Given the description of an element on the screen output the (x, y) to click on. 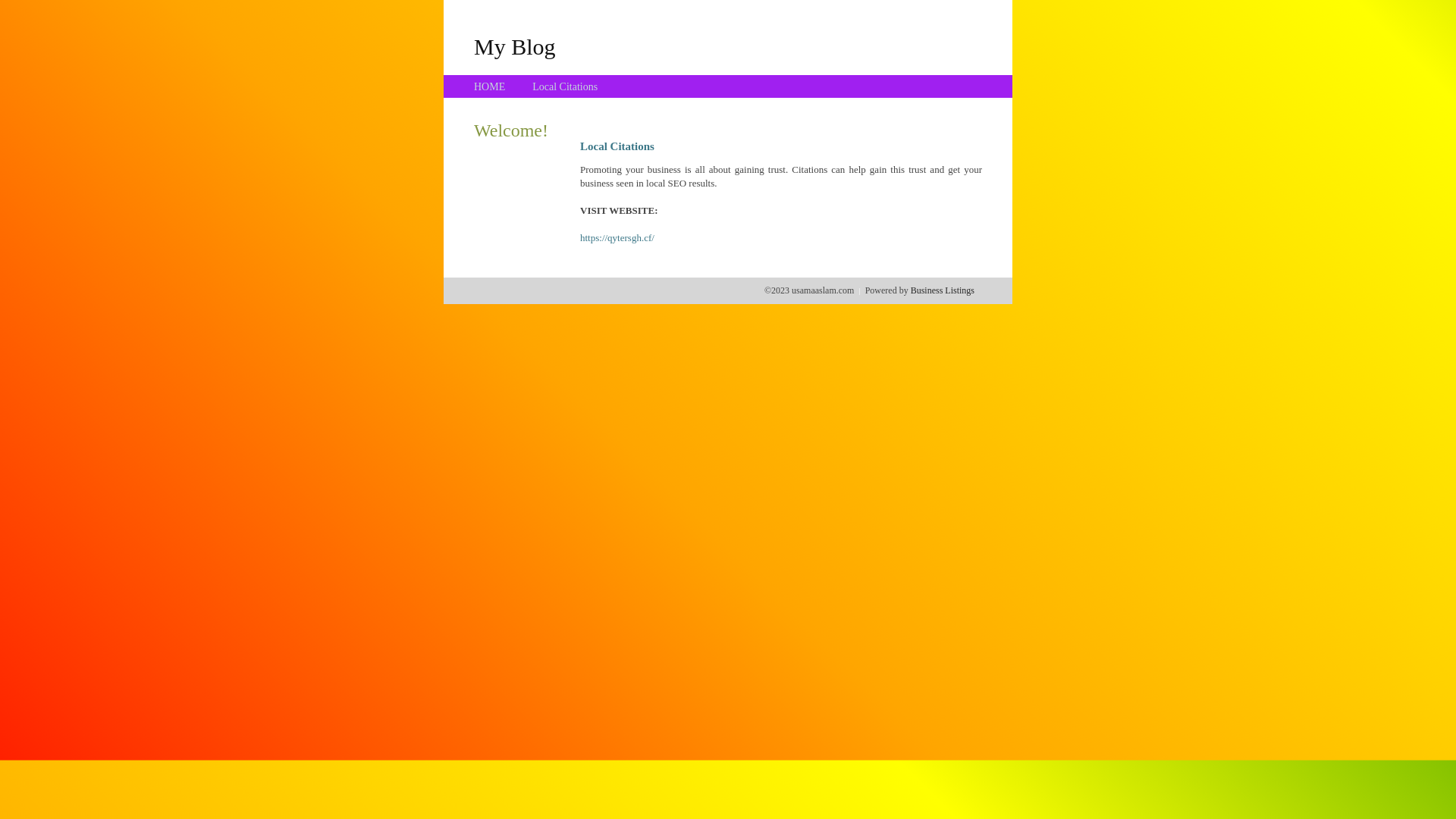
My Blog Element type: text (514, 46)
Business Listings Element type: text (942, 290)
Local Citations Element type: text (564, 86)
HOME Element type: text (489, 86)
https://qytersgh.cf/ Element type: text (617, 237)
